Given the description of an element on the screen output the (x, y) to click on. 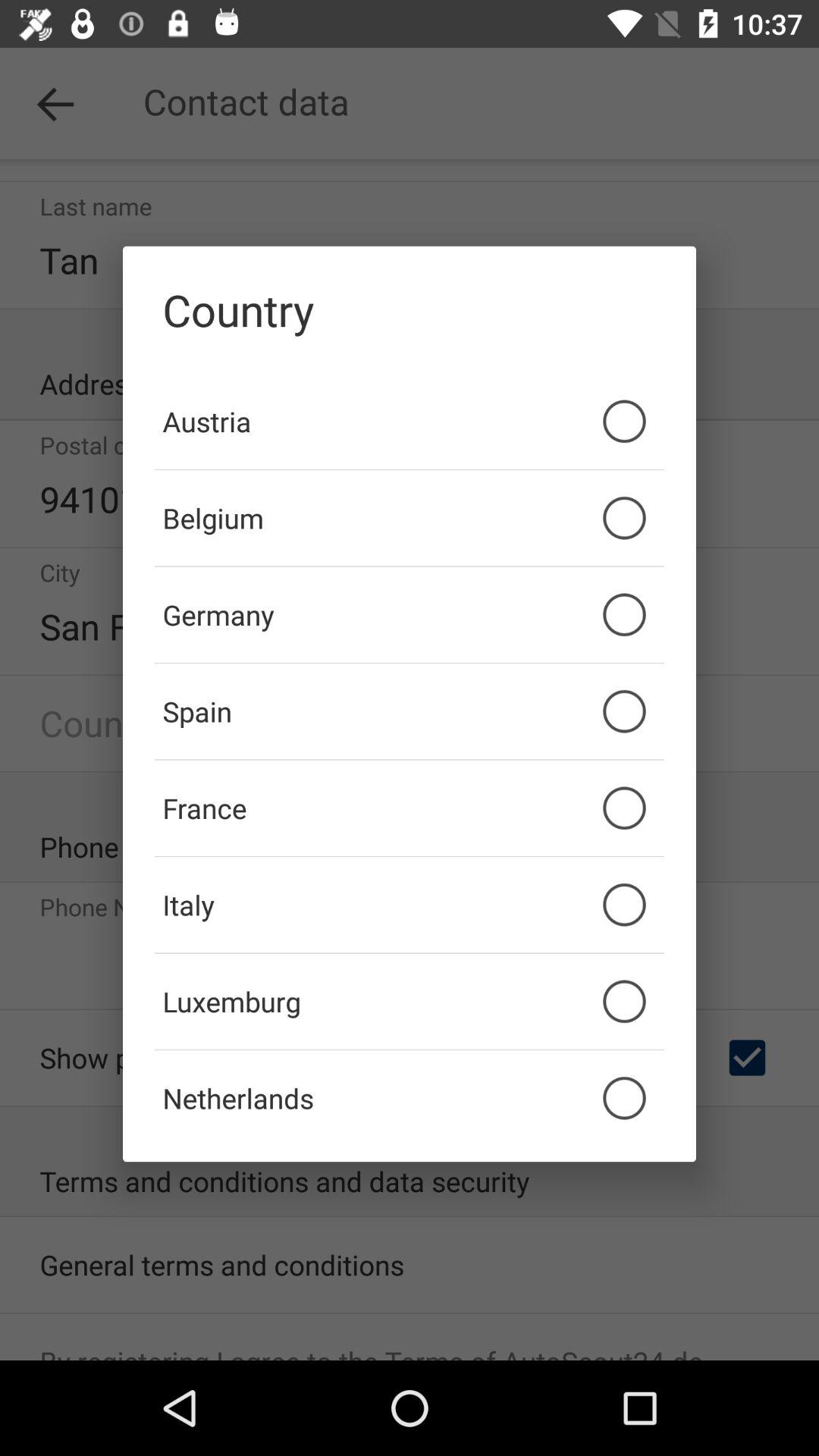
click the spain item (409, 711)
